Given the description of an element on the screen output the (x, y) to click on. 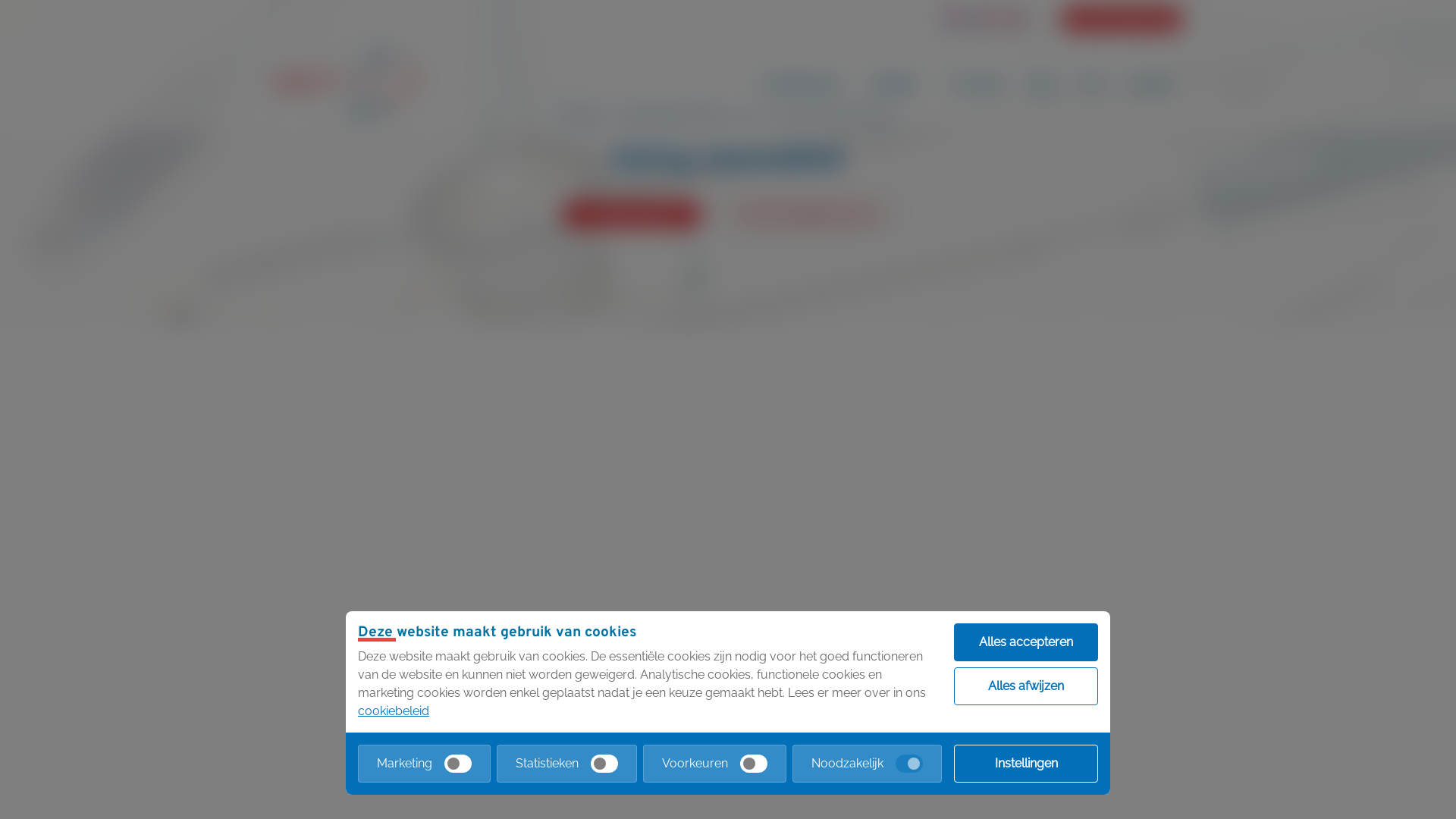
Alles accepteren Element type: text (1025, 642)
Alles afwijzen Element type: text (1025, 686)
+32 11 33 71 01 Element type: text (631, 214)
Blog Element type: text (1041, 84)
+32 11 33 71 01 Element type: text (1121, 18)
FAQ Element type: text (1090, 84)
Patients Element type: text (898, 84)
Our team Element type: text (977, 84)
Professionals Element type: text (805, 84)
Instellingen Element type: text (1025, 763)
hartchirurgie@jessazh.be Element type: text (807, 214)
Contact Element type: text (1148, 84)
cookiebeleid Element type: text (393, 710)
